Given the description of an element on the screen output the (x, y) to click on. 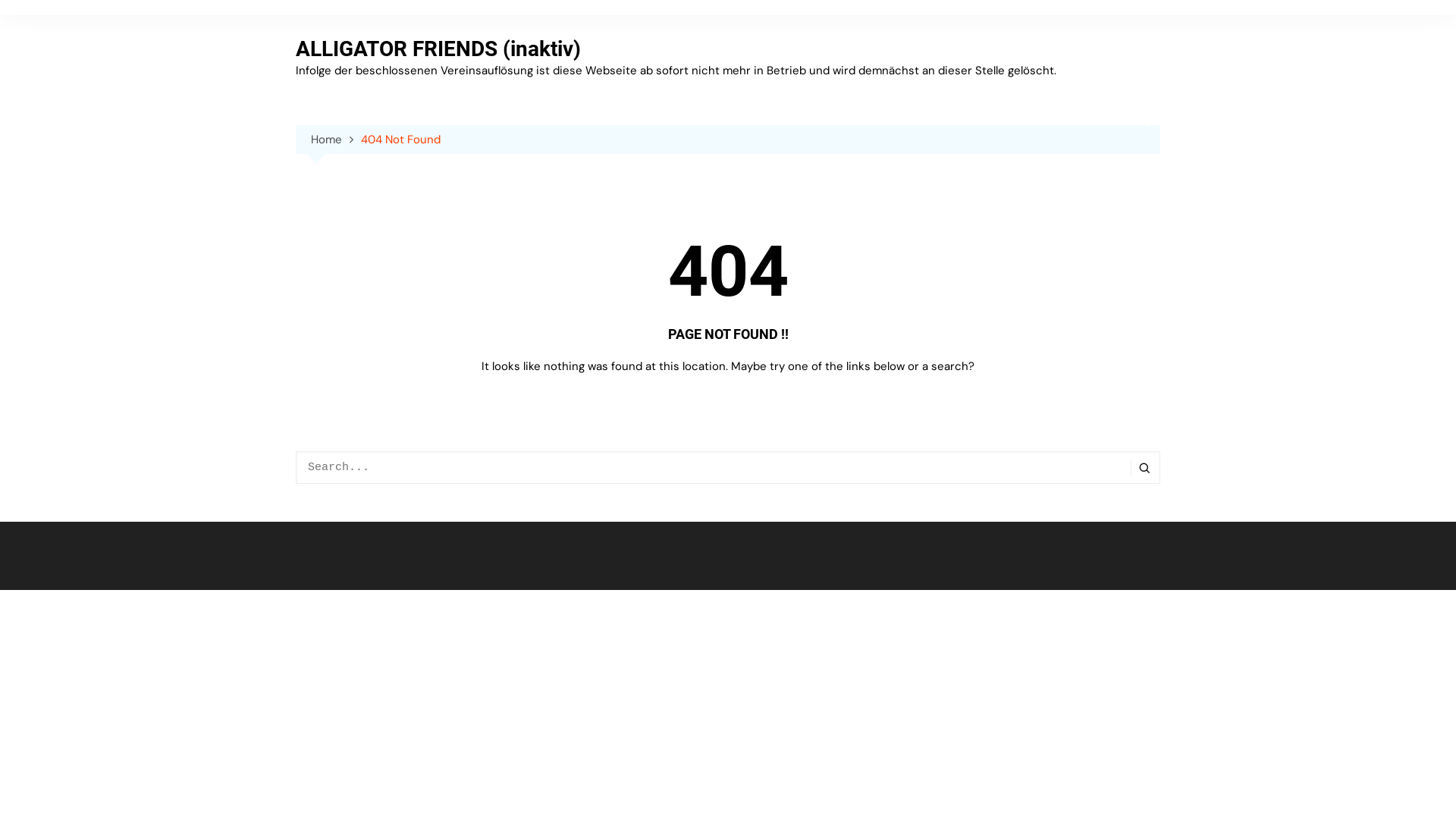
Home Element type: text (335, 139)
404 Not Found Element type: text (400, 139)
ALLIGATOR FRIENDS (inaktiv) Element type: text (437, 48)
